Given the description of an element on the screen output the (x, y) to click on. 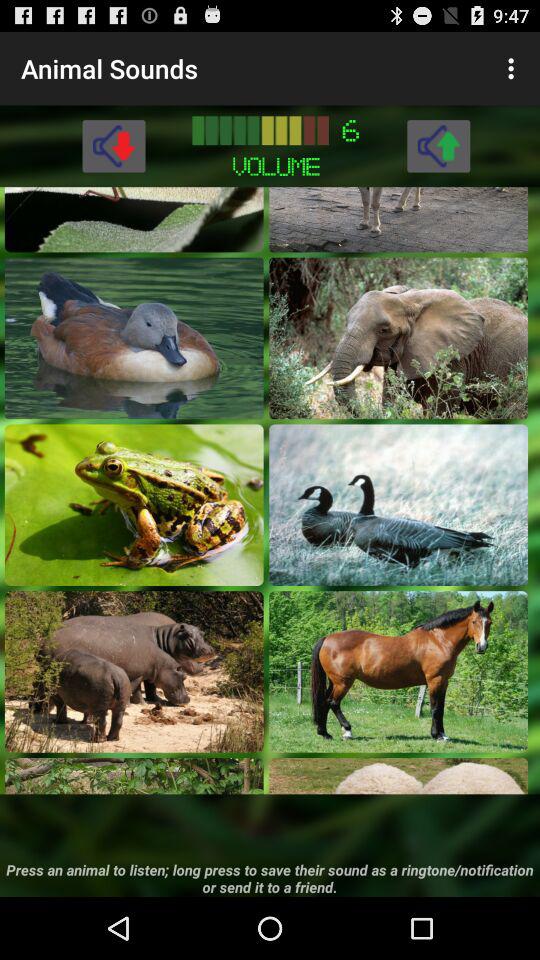
press the icon to the right of animal sounds app (513, 67)
